Given the description of an element on the screen output the (x, y) to click on. 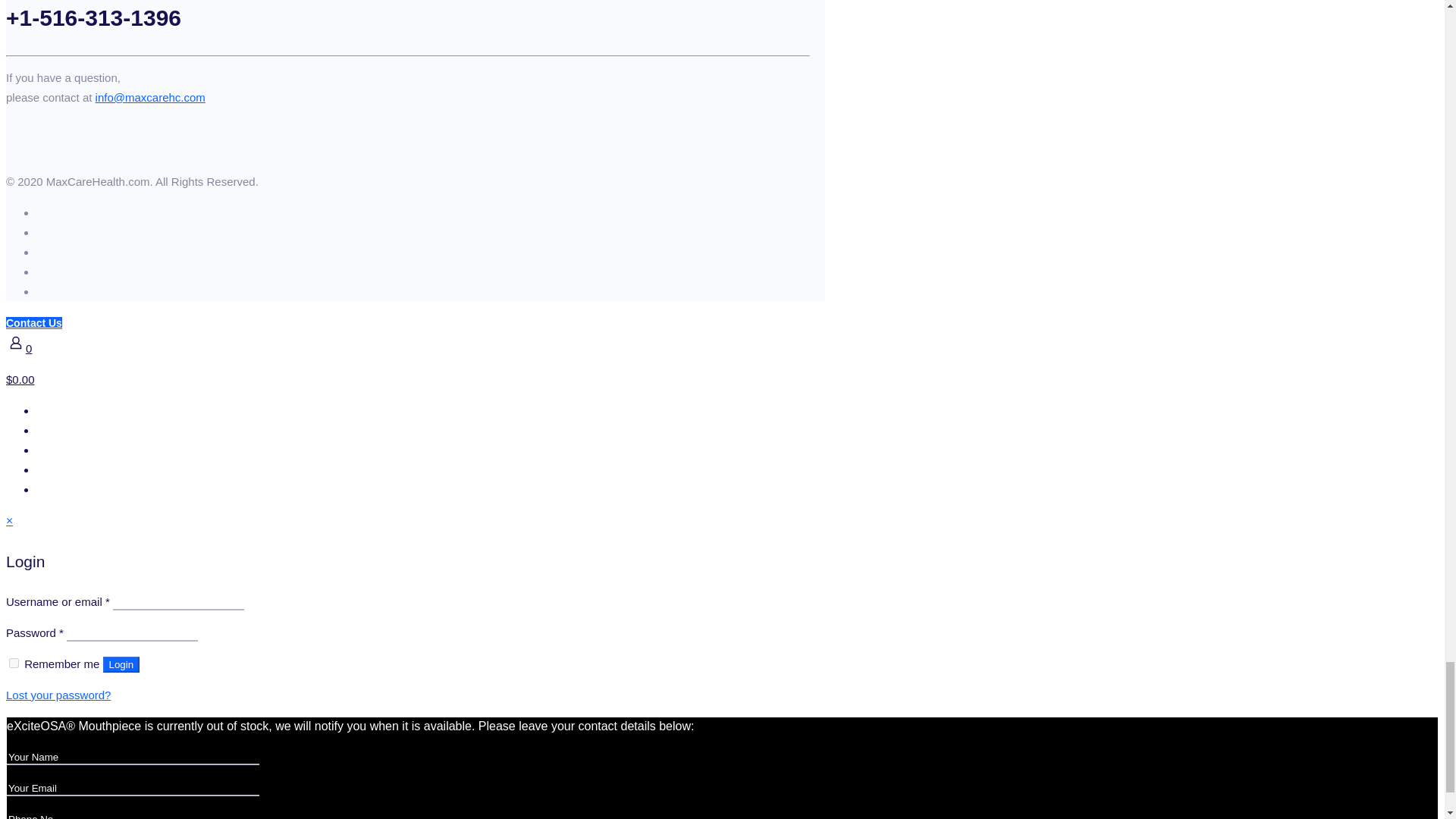
forever (13, 663)
